Given the description of an element on the screen output the (x, y) to click on. 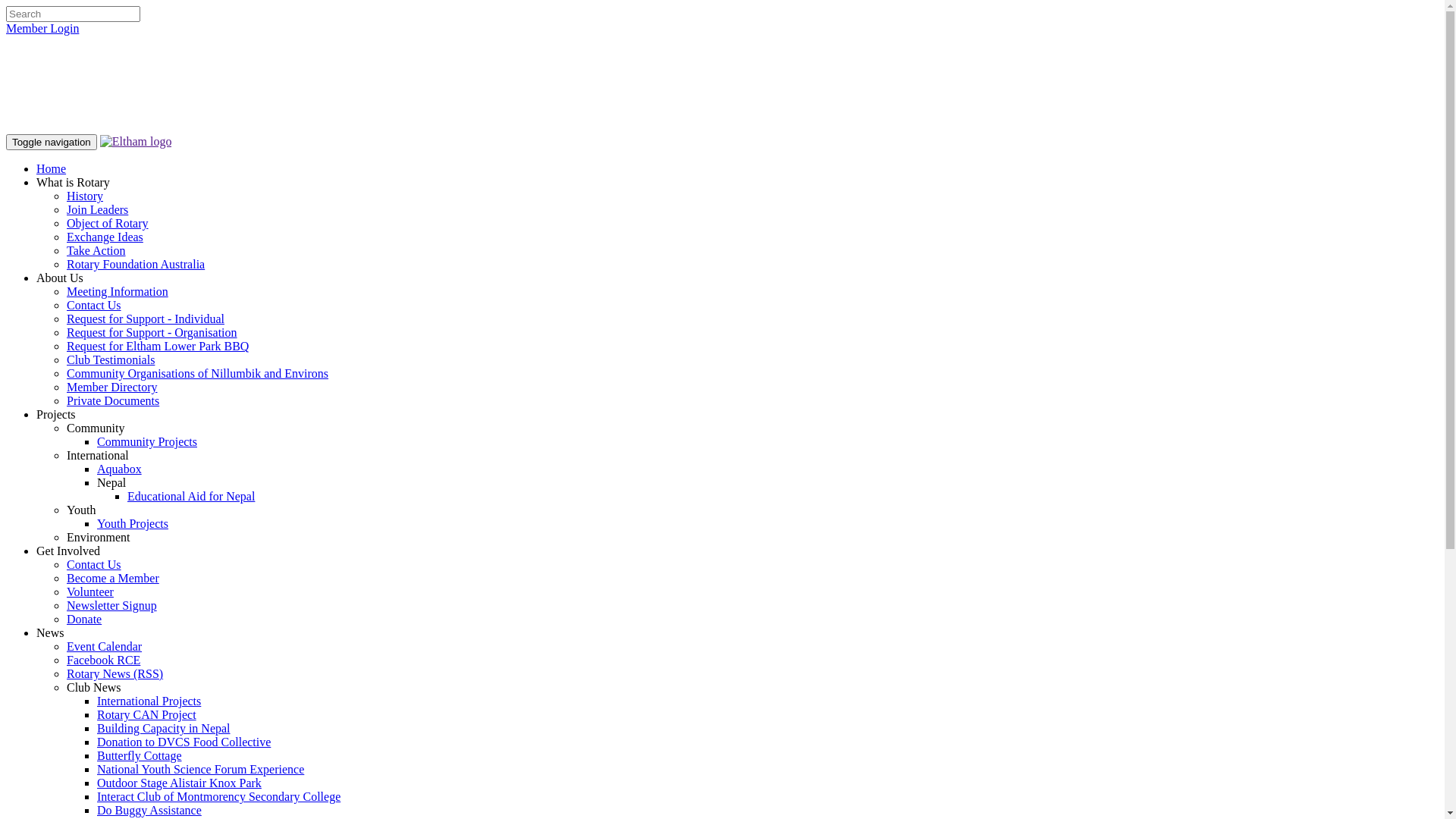
Contact Us Element type: text (93, 304)
Newsletter Signup Element type: text (111, 605)
Interact Club of Montmorency Secondary College Element type: text (218, 796)
International Projects Element type: text (148, 700)
Rotary CAN Project Element type: text (146, 714)
News Element type: text (49, 632)
Rotary Foundation Australia Element type: text (135, 263)
What is Rotary Element type: text (72, 181)
Private Documents Element type: text (112, 400)
Community Organisations of Nillumbik and Environs Element type: text (197, 373)
Projects Element type: text (55, 413)
Get Involved Element type: text (68, 550)
Exchange Ideas Element type: text (104, 236)
Contact Us Element type: text (93, 564)
Object of Rotary Element type: text (107, 222)
Become a Member Element type: text (112, 577)
Request for Support - Organisation Element type: text (151, 332)
Meeting Information Element type: text (117, 291)
National Youth Science Forum Experience Element type: text (200, 768)
Do Buggy Assistance Element type: text (149, 809)
Donation to DVCS Food Collective Element type: text (183, 741)
Aquabox Element type: text (119, 468)
Member Directory Element type: text (111, 386)
Facebook RCE Element type: text (103, 659)
Volunteer Element type: text (89, 591)
Youth Element type: text (80, 509)
Toggle navigation Element type: text (51, 142)
Home Element type: text (50, 168)
Club Testimonials Element type: text (110, 359)
About Us Element type: text (59, 277)
Member Login Element type: text (42, 27)
Community Projects Element type: text (147, 441)
Rotary News (RSS) Element type: text (114, 673)
Donate Element type: text (83, 618)
Community Element type: text (95, 427)
Join Leaders Element type: text (97, 209)
Outdoor Stage Alistair Knox Park Element type: text (179, 782)
Request for Support - Individual Element type: text (145, 318)
Request for Eltham Lower Park BBQ Element type: text (157, 345)
Take Action Element type: text (95, 250)
Butterfly Cottage Element type: text (139, 755)
Youth Projects Element type: text (132, 523)
Building Capacity in Nepal Element type: text (163, 727)
History Element type: text (84, 195)
Club News Element type: text (93, 686)
International Element type: text (97, 454)
Educational Aid for Nepal Element type: text (190, 495)
Nepal Element type: text (111, 482)
Event Calendar Element type: text (103, 646)
